Given the description of an element on the screen output the (x, y) to click on. 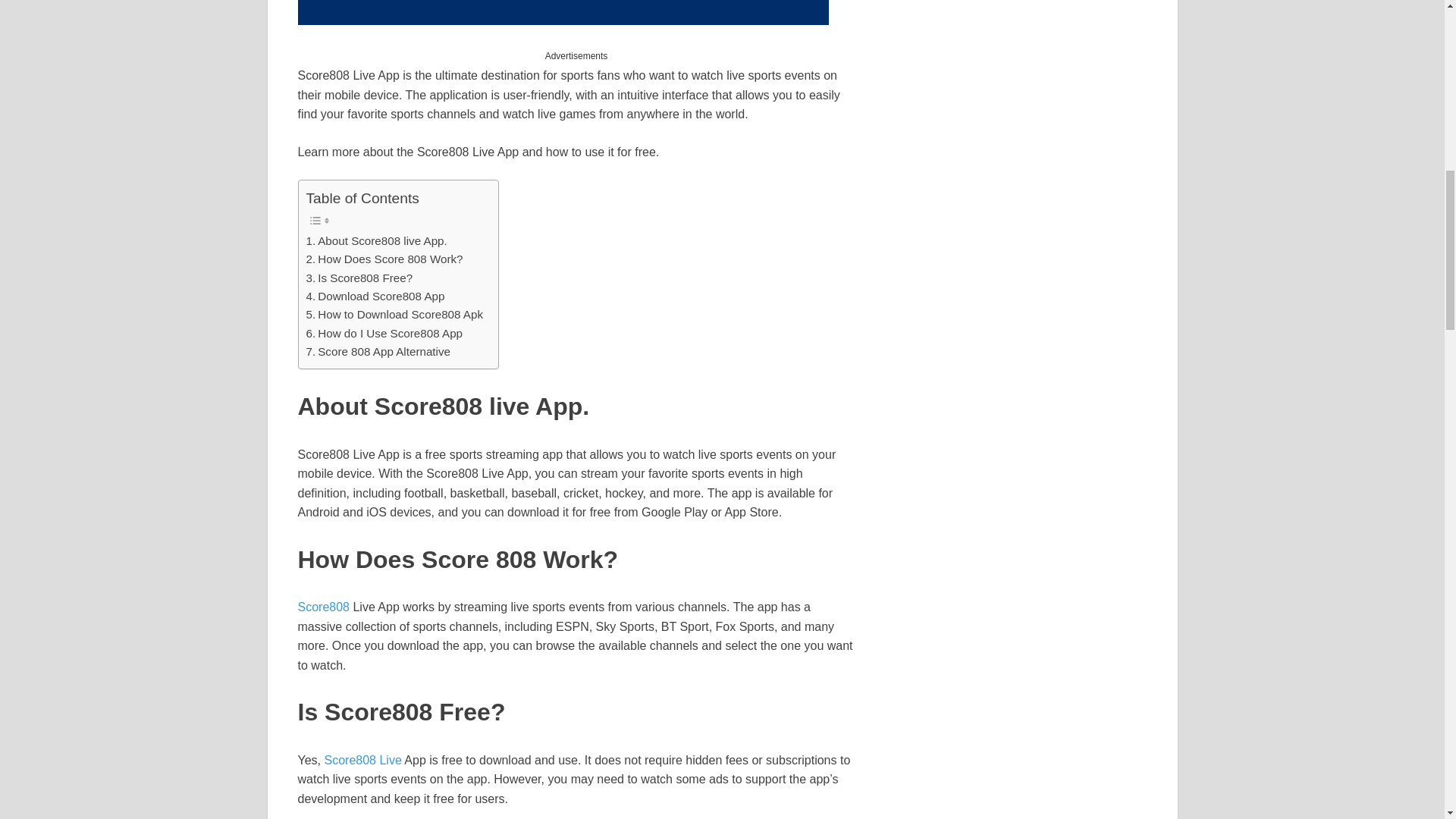
How do I Use Score808 App (384, 333)
Download Score808 App (375, 296)
About Score808 live App. (375, 240)
How do I Use Score808 App (384, 333)
Score 808 App Alternative (378, 352)
Is Score808 Free? (359, 278)
How to Download Score808 Apk (394, 314)
Score808 (323, 606)
Download Score808 App (375, 296)
How Does Score 808 Work? (384, 259)
About Score808 live App. (375, 240)
How to Download Score808 Apk (394, 314)
Score808 Live (362, 759)
How Does Score 808 Work? (384, 259)
Score 808 App Alternative (378, 352)
